Given the description of an element on the screen output the (x, y) to click on. 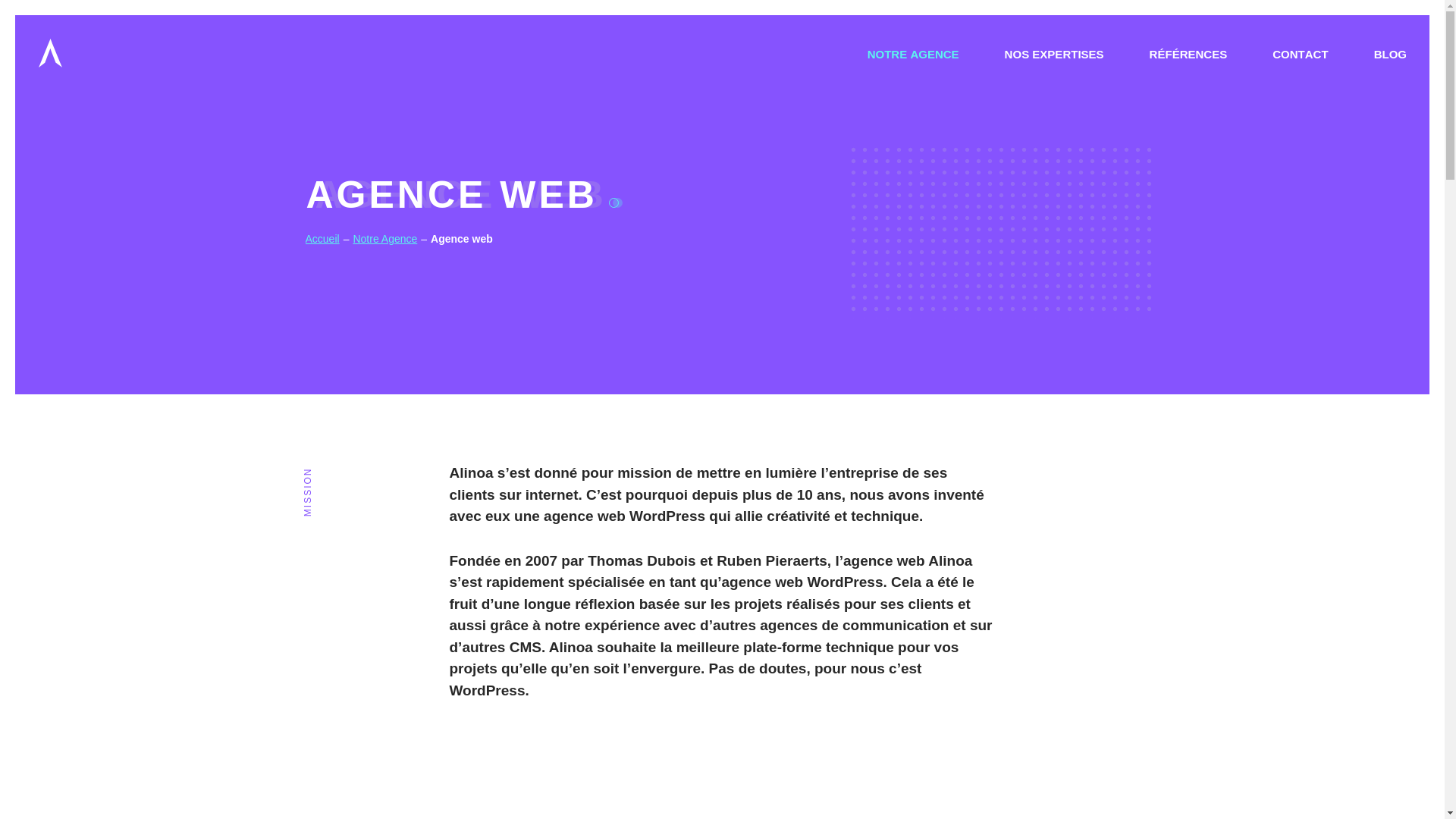
BLOG Element type: text (1378, 50)
NOS EXPERTISES Element type: text (1054, 50)
Notre Agence Element type: text (384, 238)
NOTRE AGENCE Element type: text (913, 50)
Return to home Element type: hover (111, 52)
Accueil Element type: text (321, 238)
CONTACT Element type: text (1299, 50)
